Given the description of an element on the screen output the (x, y) to click on. 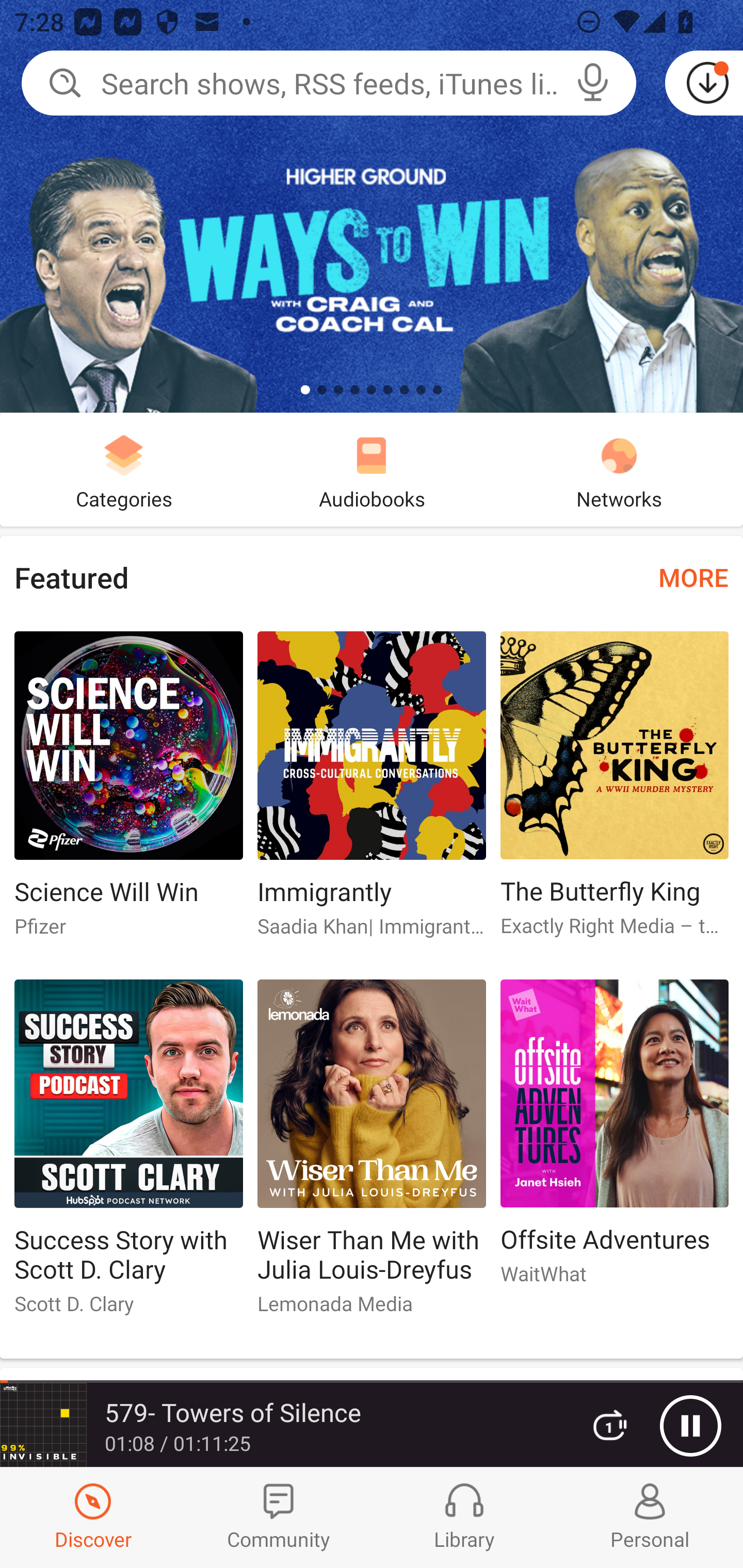
Ways To Win (371, 206)
Categories (123, 469)
Audiobooks (371, 469)
Networks (619, 469)
MORE (693, 576)
Science Will Win Science Will Win Pfizer (128, 792)
Offsite Adventures Offsite Adventures WaitWhat (614, 1140)
579- Towers of Silence 01:08 / 01:11:25 (283, 1424)
Pause (690, 1425)
Discover (92, 1517)
Community (278, 1517)
Library (464, 1517)
Profiles and Settings Personal (650, 1517)
